Given the description of an element on the screen output the (x, y) to click on. 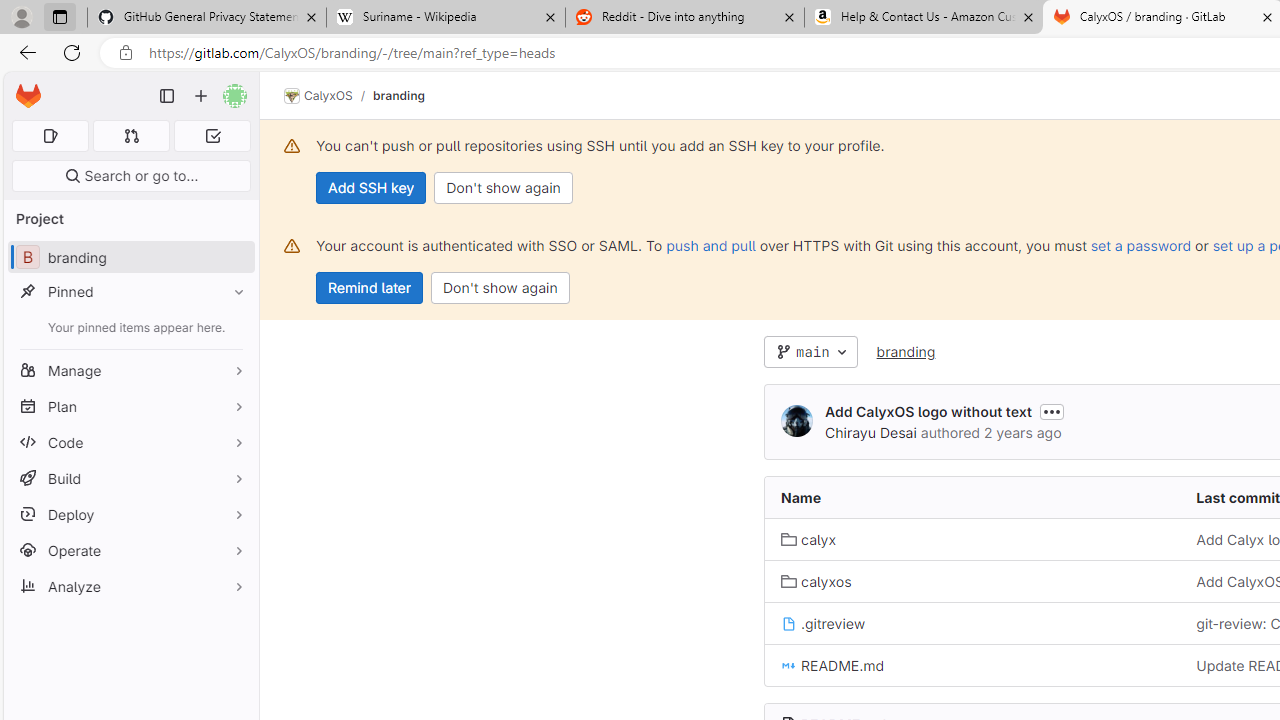
Create new... (201, 96)
Add CalyxOS logo without text (928, 411)
.gitreview (973, 623)
branding (905, 351)
Build (130, 478)
Primary navigation sidebar (167, 96)
Deploy (130, 514)
Plan (130, 406)
Merge requests 0 (131, 136)
push and pull (710, 245)
Class: s16 position-relative file-icon (788, 665)
GitHub General Privacy Statement - GitHub Docs (207, 17)
calyx (808, 539)
